Given the description of an element on the screen output the (x, y) to click on. 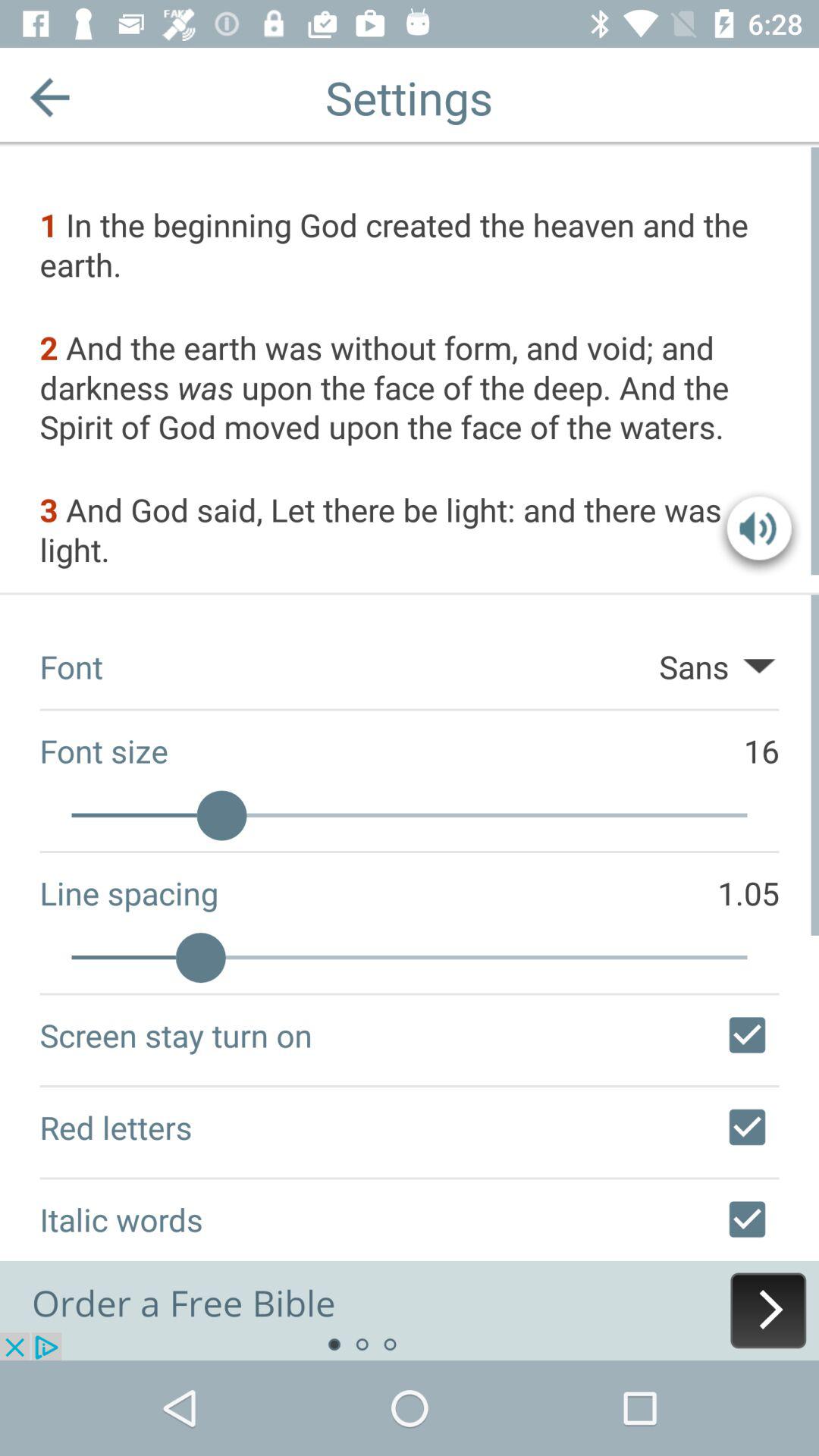
change volume (759, 532)
